Given the description of an element on the screen output the (x, y) to click on. 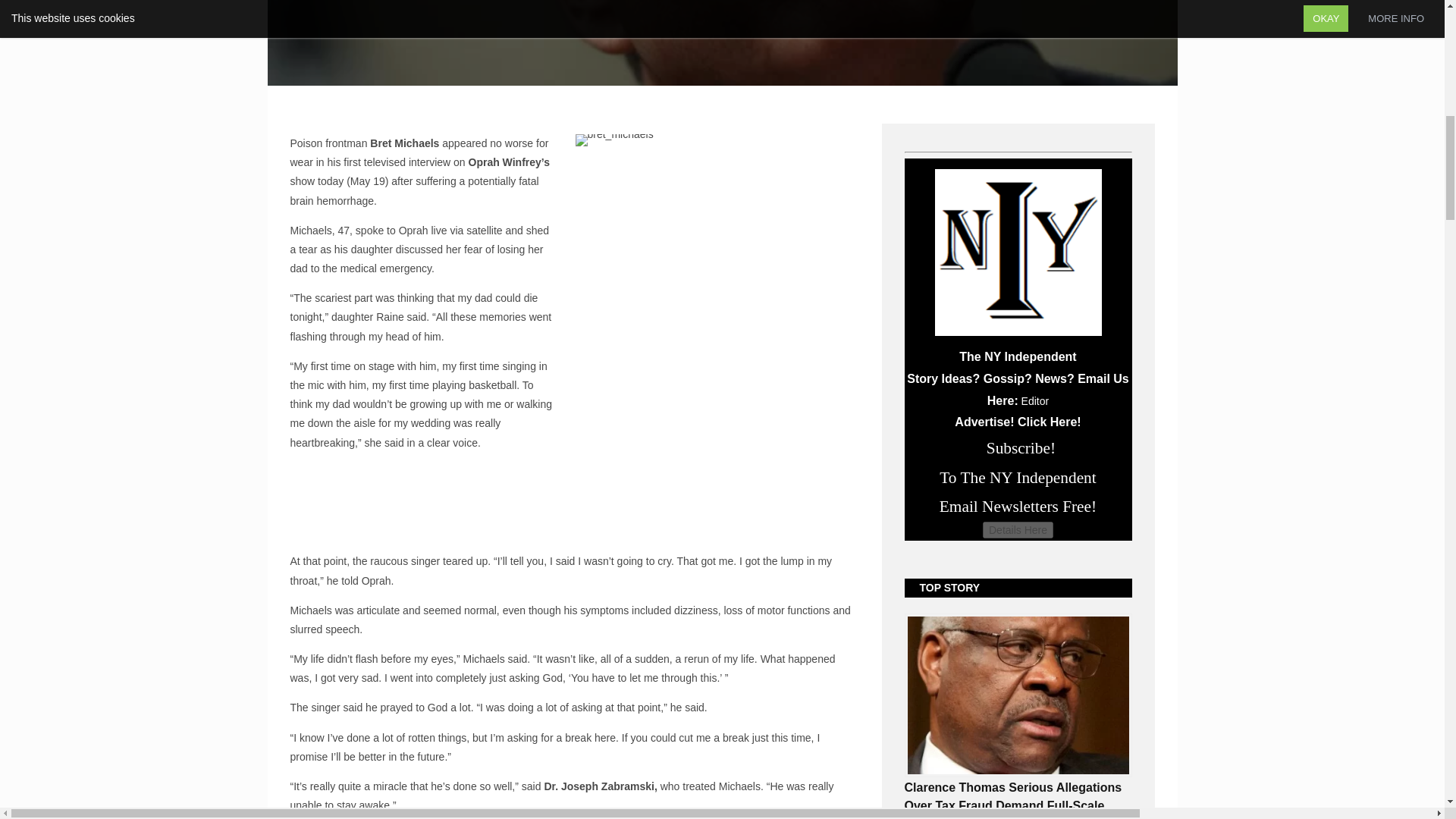
Details Here (1017, 529)
